Given the description of an element on the screen output the (x, y) to click on. 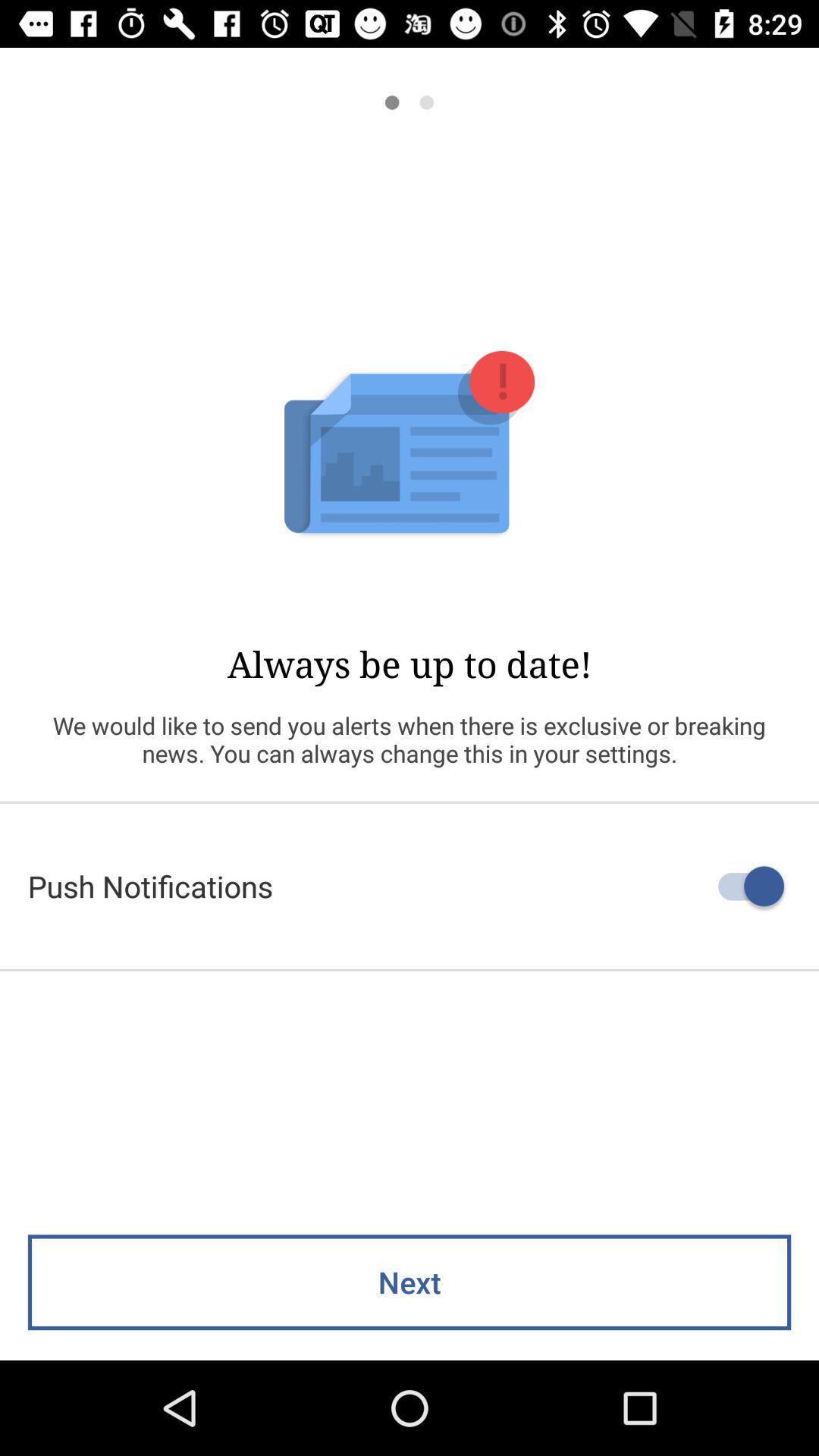
swipe to the next icon (409, 1282)
